Given the description of an element on the screen output the (x, y) to click on. 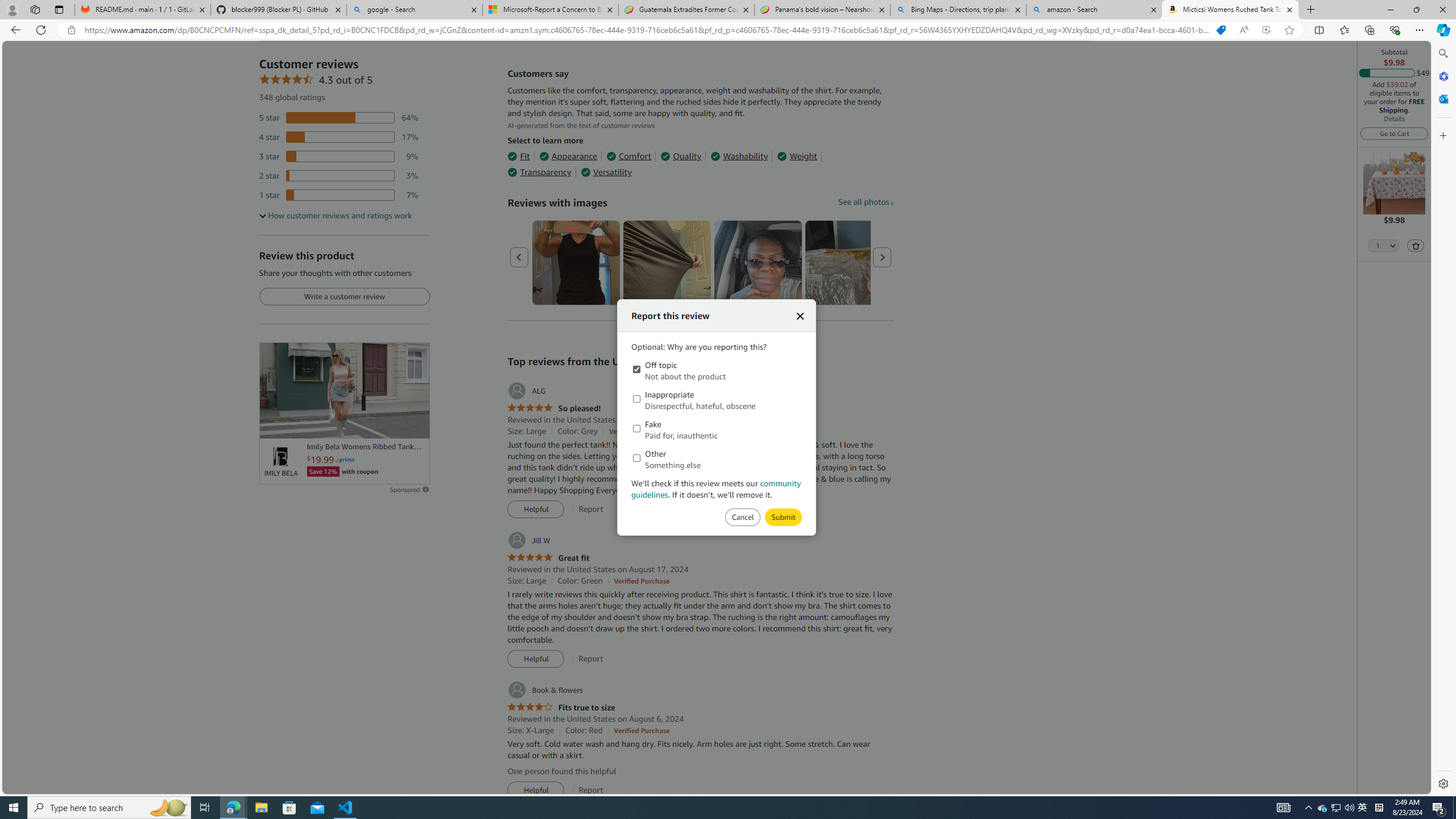
Versatility (605, 172)
Mark this review for abuse BUTTON (782, 517)
Pause (273, 424)
google - Search (414, 9)
Next page (882, 256)
Fit (517, 156)
Quality (681, 156)
Customer Image (758, 262)
